Given the description of an element on the screen output the (x, y) to click on. 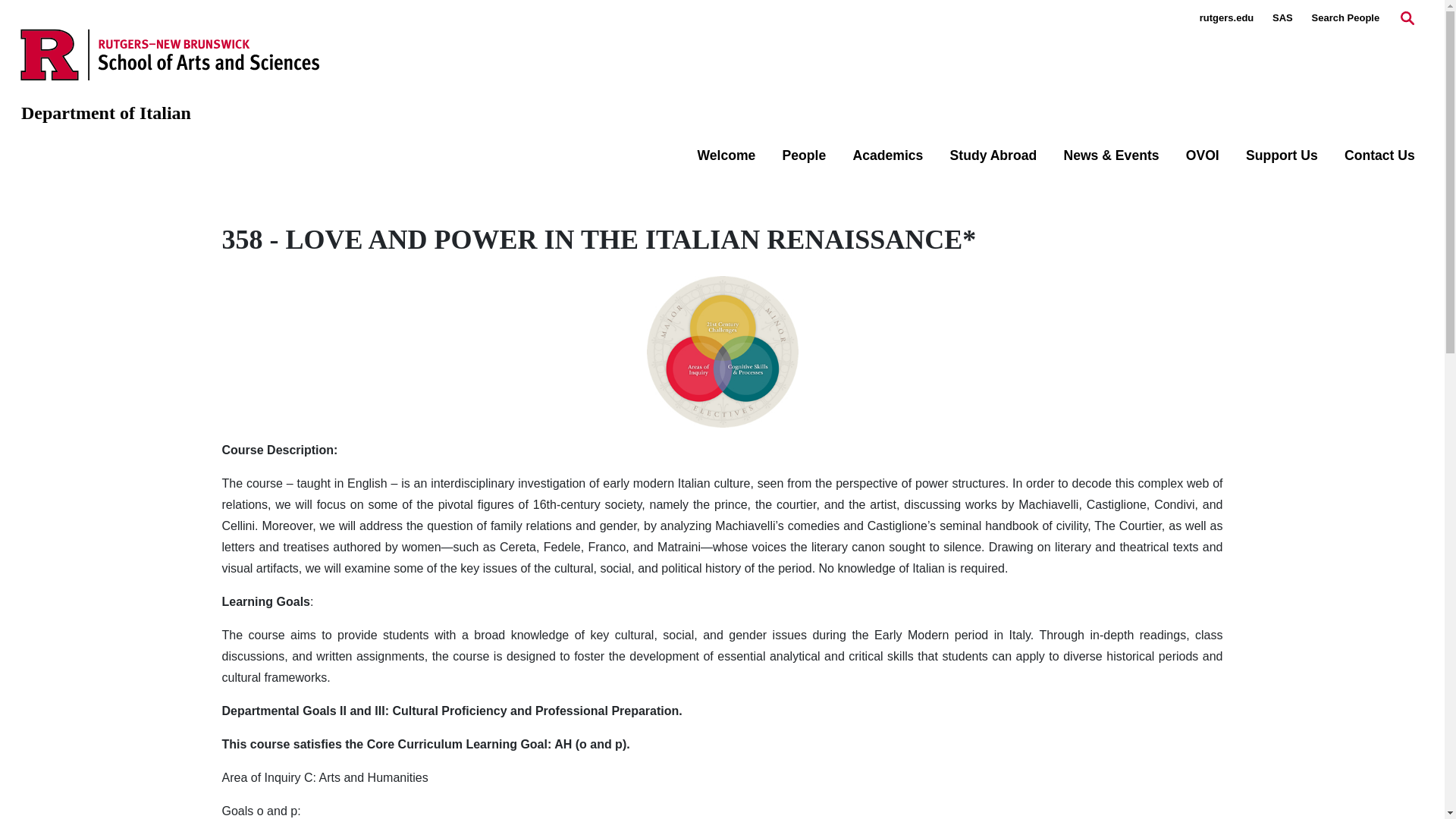
Study Abroad (993, 155)
Academics (887, 155)
People (805, 155)
Department of Italian (105, 112)
Welcome (726, 155)
OVOI (1203, 155)
Search People (1345, 17)
rutgers.edu (1226, 17)
